Given the description of an element on the screen output the (x, y) to click on. 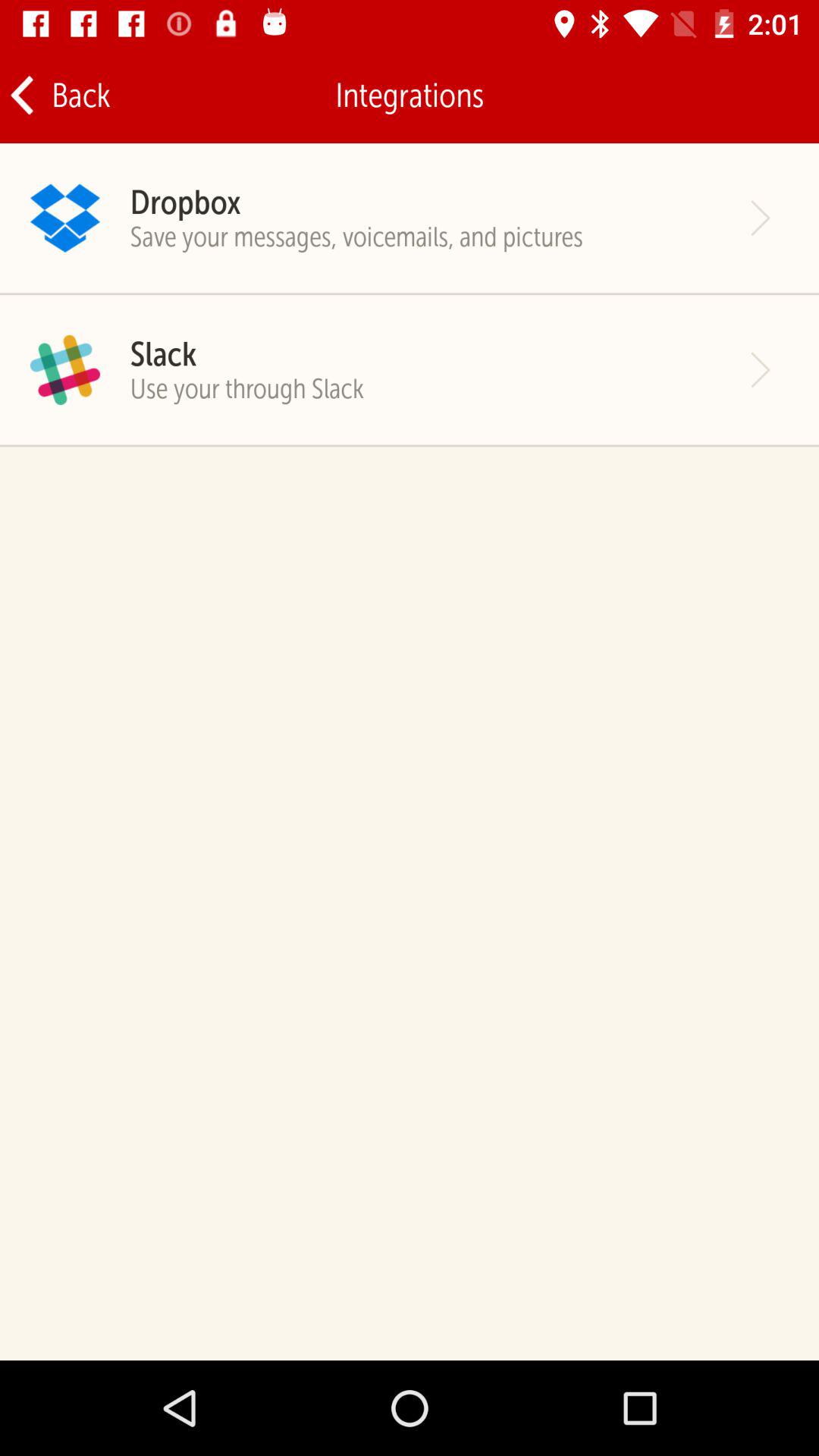
tap item above save your messages icon (185, 202)
